Given the description of an element on the screen output the (x, y) to click on. 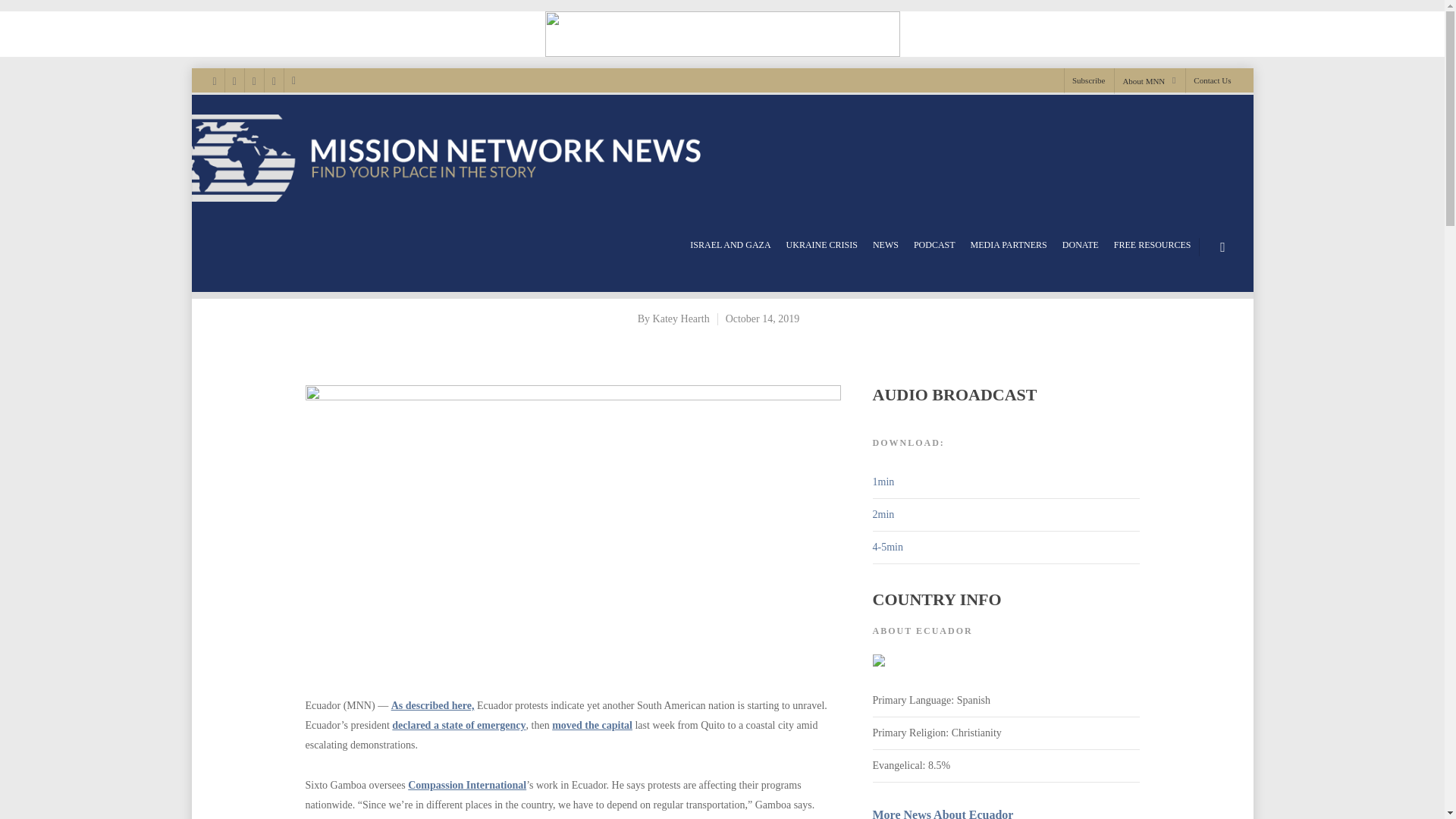
ISRAEL AND GAZA (730, 245)
As described here, (432, 705)
moved the capital (591, 725)
Subscribe (1088, 80)
Katey Hearth (681, 318)
Contact Us (1207, 80)
declared a state of emergency (458, 725)
Posts by Katey Hearth (681, 318)
About MNN (1148, 80)
Compassion International (466, 785)
